Given the description of an element on the screen output the (x, y) to click on. 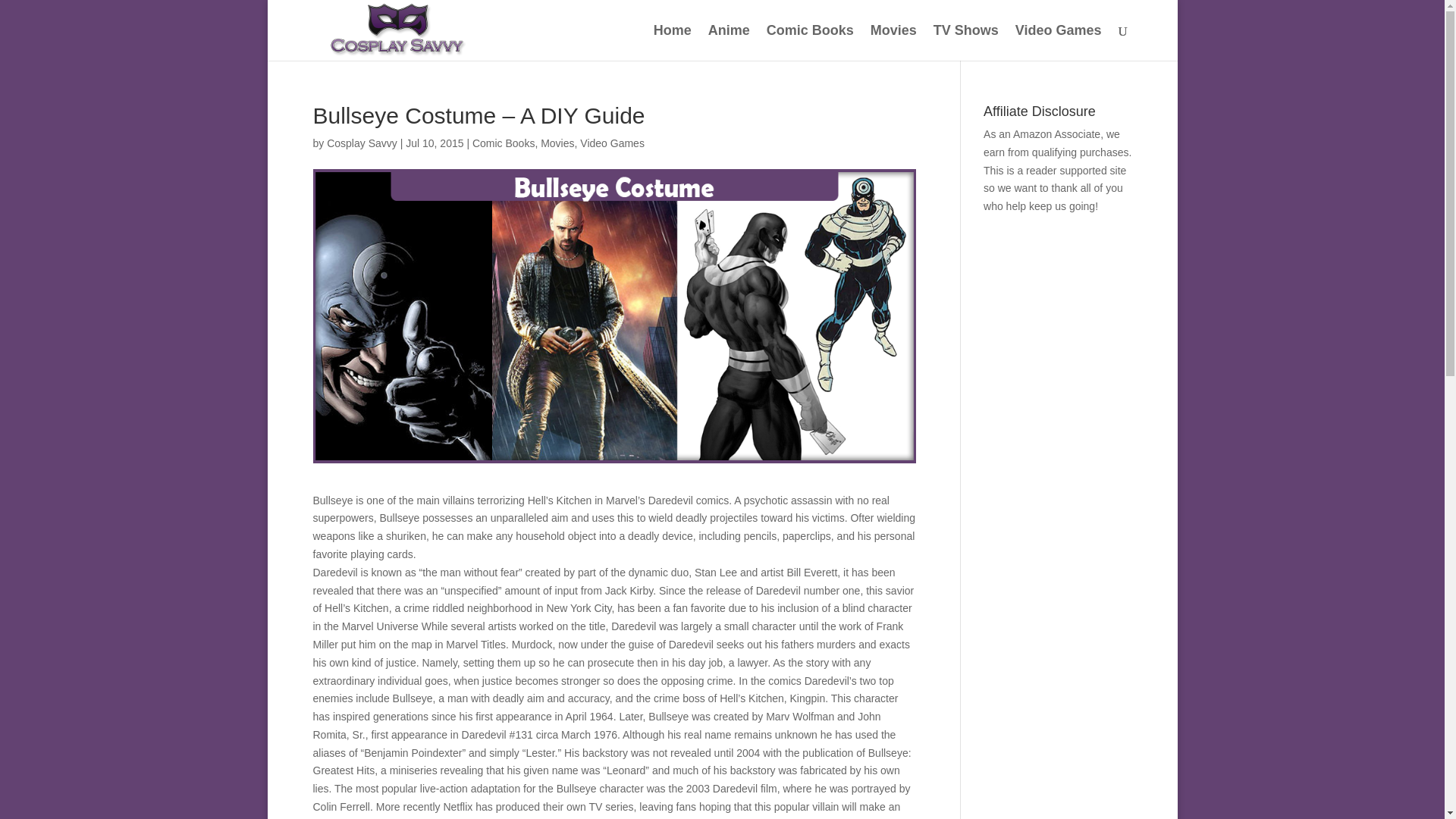
Video Games (1058, 42)
Movies (556, 143)
Posts by Cosplay Savvy (361, 143)
Video Games (612, 143)
Cosplay Savvy (361, 143)
Anime (728, 42)
Comic Books (502, 143)
TV Shows (965, 42)
Comic Books (810, 42)
Home (672, 42)
